Given the description of an element on the screen output the (x, y) to click on. 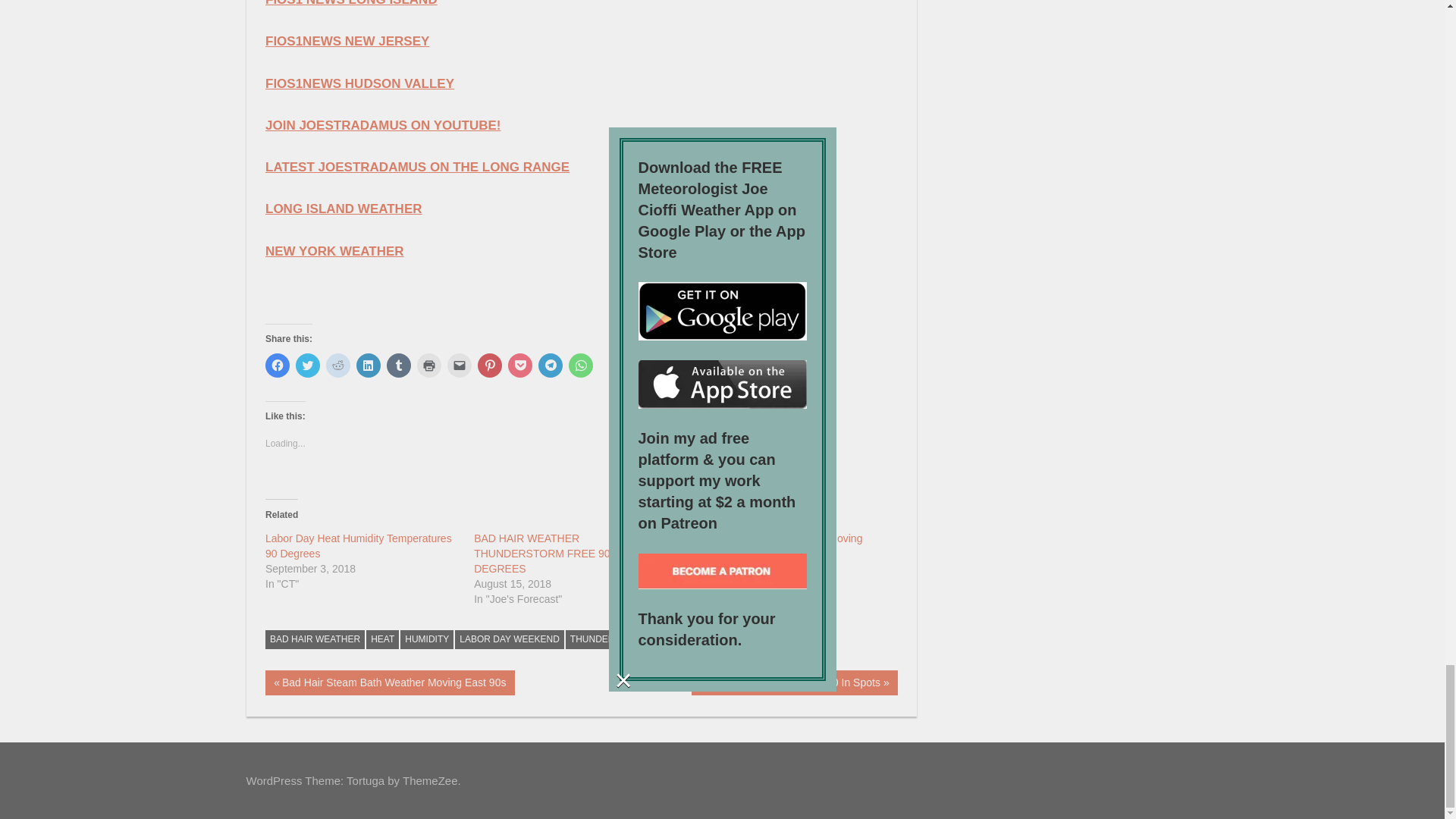
Click to print (428, 364)
Click to email a link to a friend (458, 364)
Click to share on Pinterest (489, 364)
Click to share on Twitter (307, 364)
Click to share on LinkedIn (368, 364)
Click to share on Reddit (338, 364)
Click to share on Tumblr (398, 364)
Click to share on Facebook (276, 364)
